Given the description of an element on the screen output the (x, y) to click on. 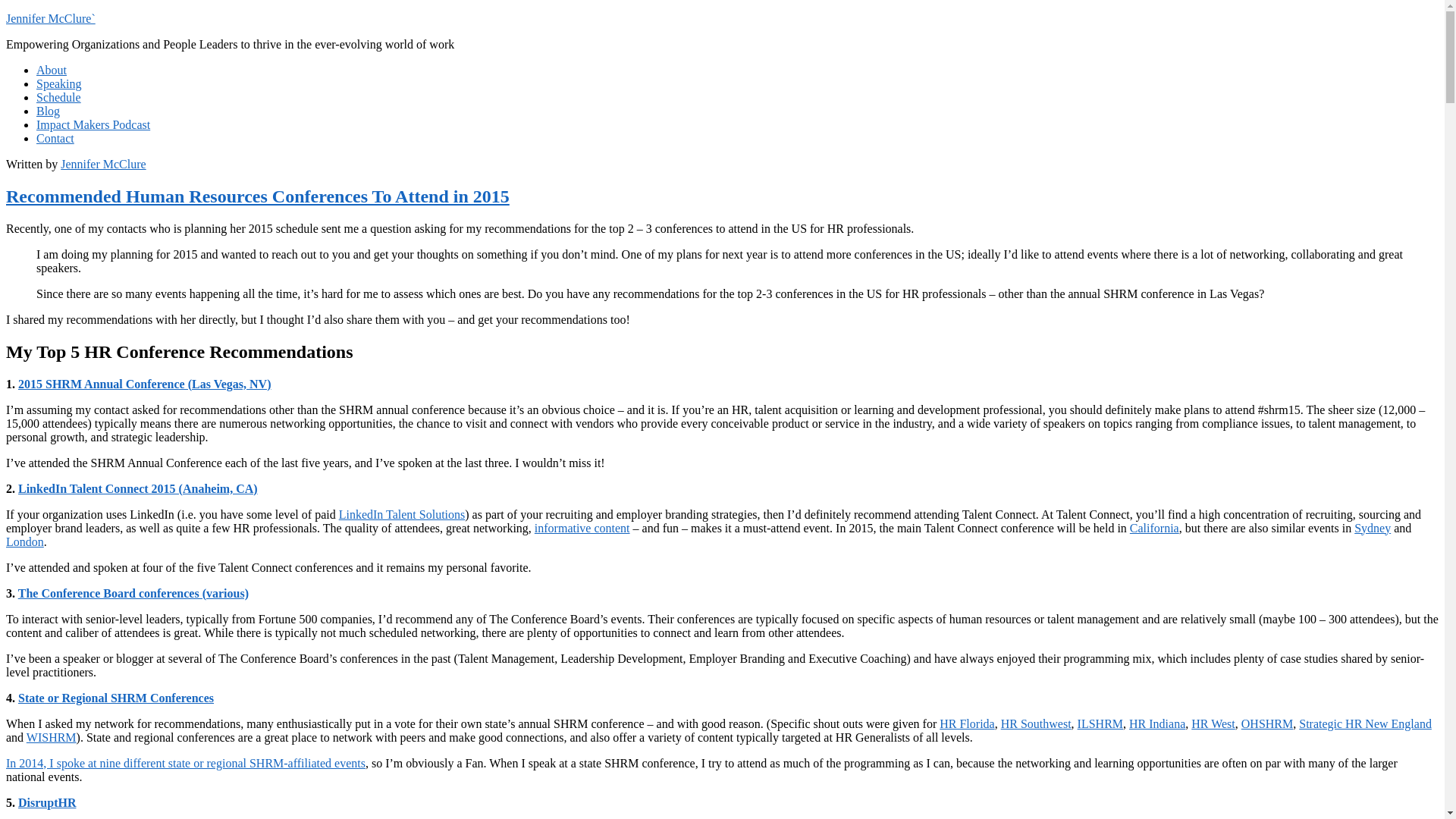
Sydney (1372, 527)
LinkedIn Talent Solutions (402, 513)
Jennifer McClure (103, 164)
2015 Ohio Human Resource Conference (1266, 723)
HR Florida (966, 723)
LinkedIn Talent Connect 2015 - Sydney (1372, 527)
LinkedIn Talent Connect 2015 - London (24, 541)
HR Indiana Conference (1157, 723)
Recommended Human Resources Conferences To Attend in 2015 (257, 196)
LinkedIn Talent Connect 2015 (137, 488)
OHSHRM (1266, 723)
State or Regional SHRM Conferences (115, 697)
DisruptHR (46, 802)
WISHRM (51, 737)
Blog (47, 110)
